Given the description of an element on the screen output the (x, y) to click on. 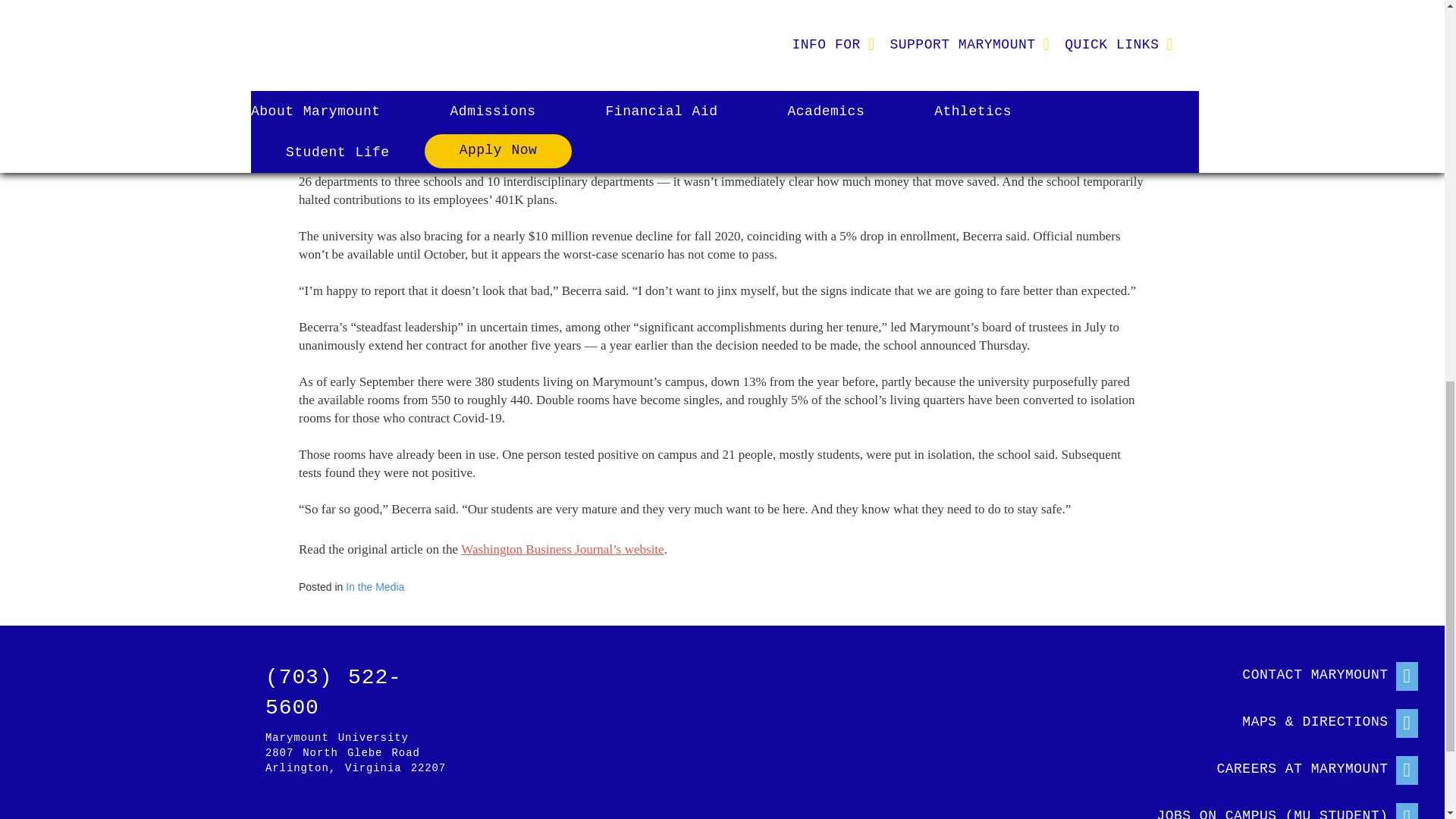
linkedin (276, 809)
Contact Us (1271, 672)
flickr (230, 809)
facebook (137, 809)
instagram (90, 809)
Youtube (322, 809)
twitter (183, 809)
Careers at MU (1271, 766)
